Given the description of an element on the screen output the (x, y) to click on. 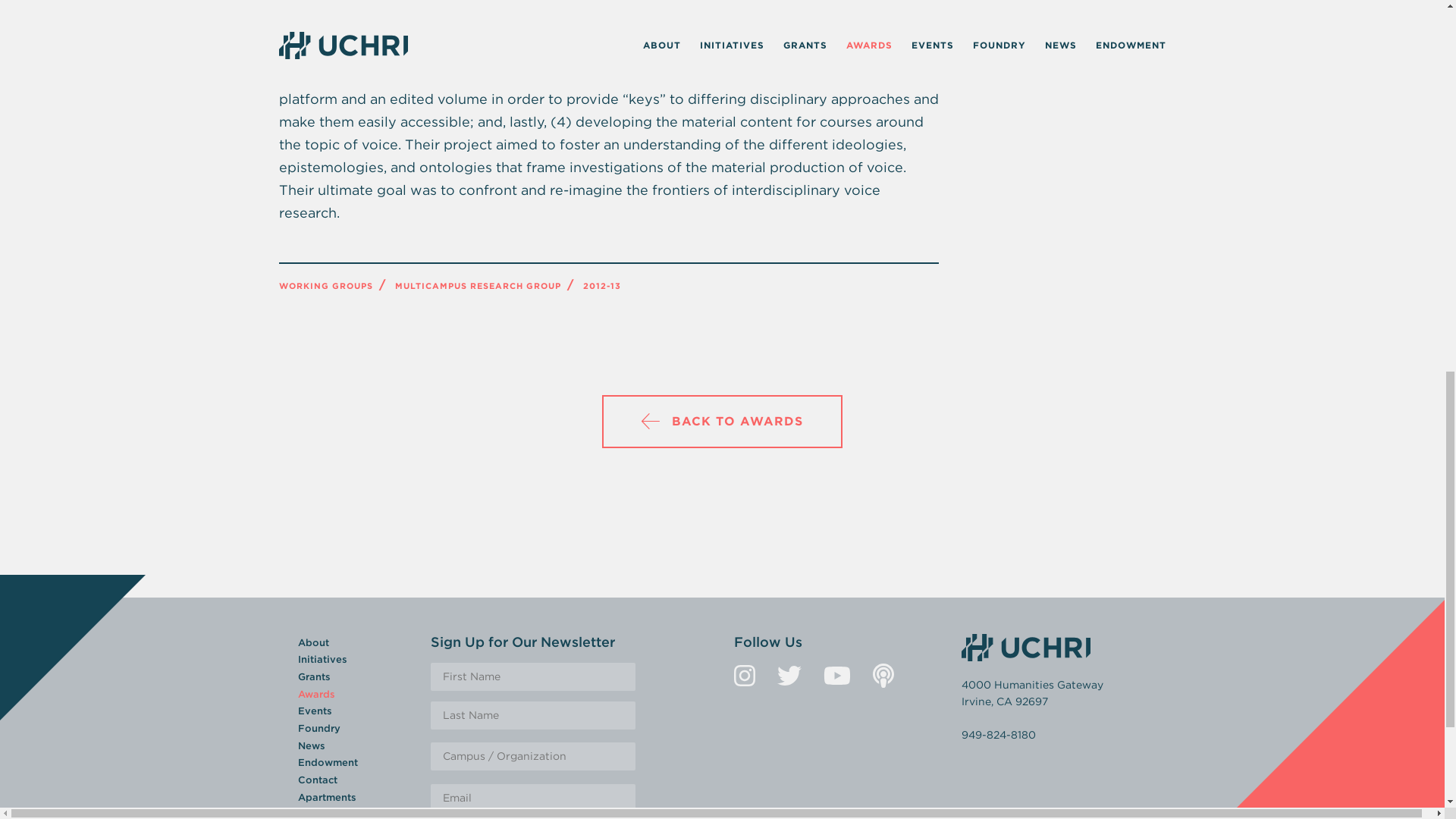
News (310, 745)
Endowment (326, 762)
Grants (313, 676)
Foundry (318, 727)
About (313, 642)
Contact (316, 779)
WORKING GROUPS (325, 285)
2012-13 (601, 285)
MULTICAMPUS RESEARCH GROUP (477, 285)
BACK TO AWARDS (722, 420)
